Given the description of an element on the screen output the (x, y) to click on. 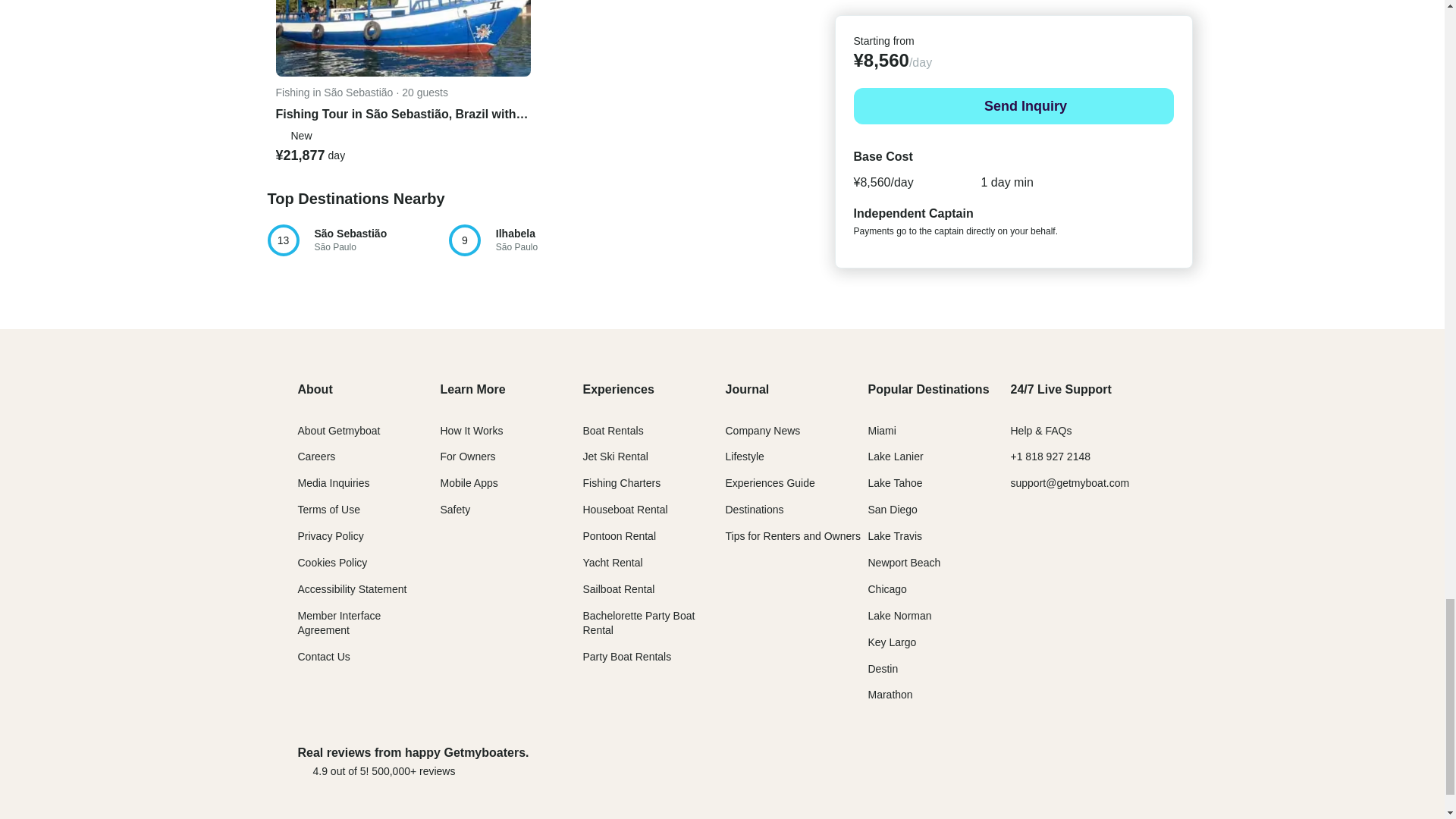
Download on the App Store (977, 761)
Media Inquiries (333, 482)
Terms of Use (328, 509)
Get it on Google Play (1096, 761)
Privacy Policy (329, 535)
Careers (315, 456)
About Getmyboat (338, 430)
